Given the description of an element on the screen output the (x, y) to click on. 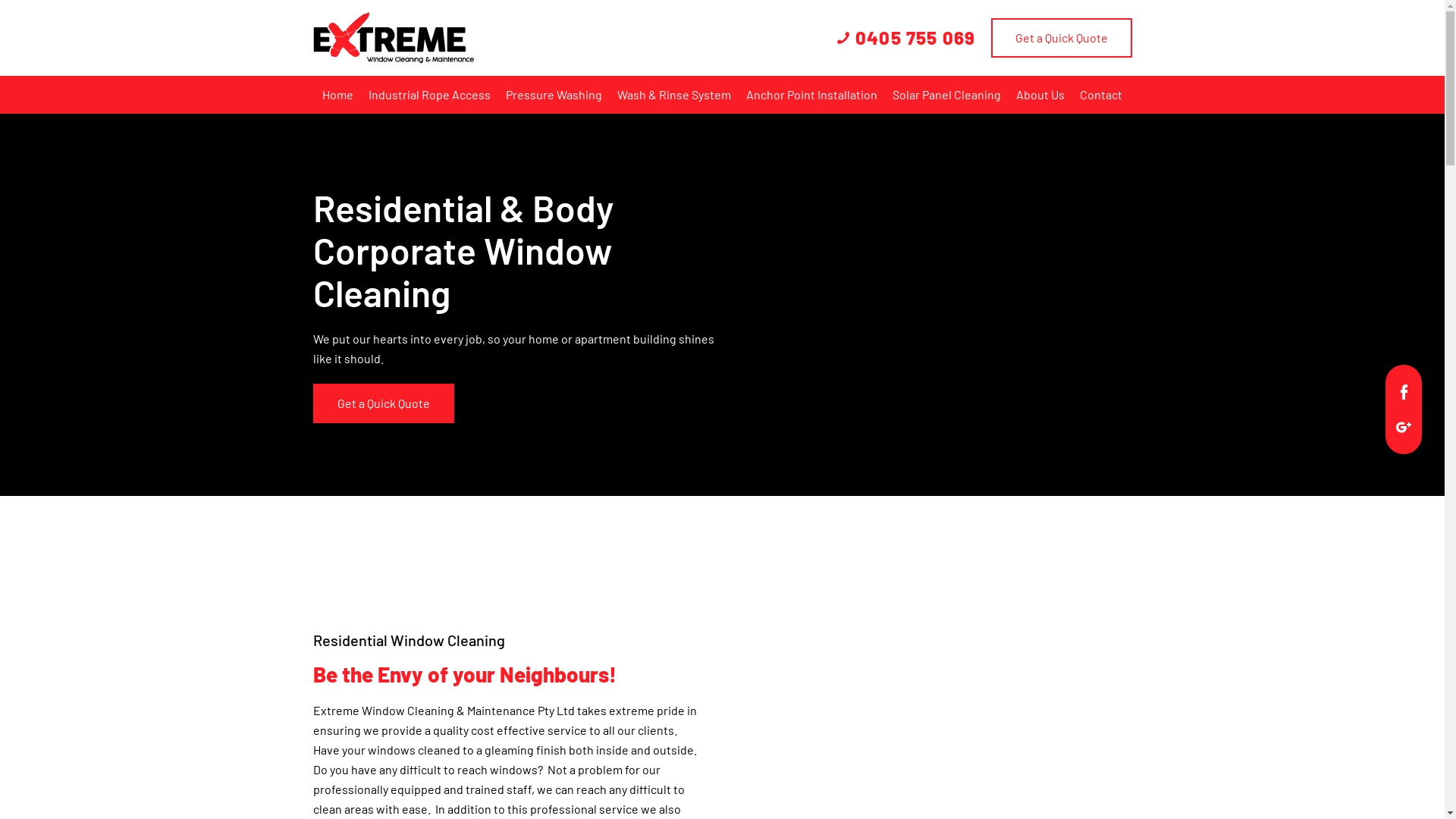
Google+ Element type: hover (1403, 424)
About Us Element type: text (1040, 94)
Get a Quick Quote Element type: text (382, 403)
Facebook Element type: hover (1403, 389)
Solar Panel Cleaning Element type: text (946, 94)
Get a Quick Quote Element type: text (1060, 37)
Industrial Rope Access Element type: text (429, 94)
Wash & Rinse System Element type: text (673, 94)
Pressure Washing Element type: text (553, 94)
Anchor Point Installation Element type: text (811, 94)
Home Element type: text (337, 94)
Contact Element type: text (1100, 94)
